Given the description of an element on the screen output the (x, y) to click on. 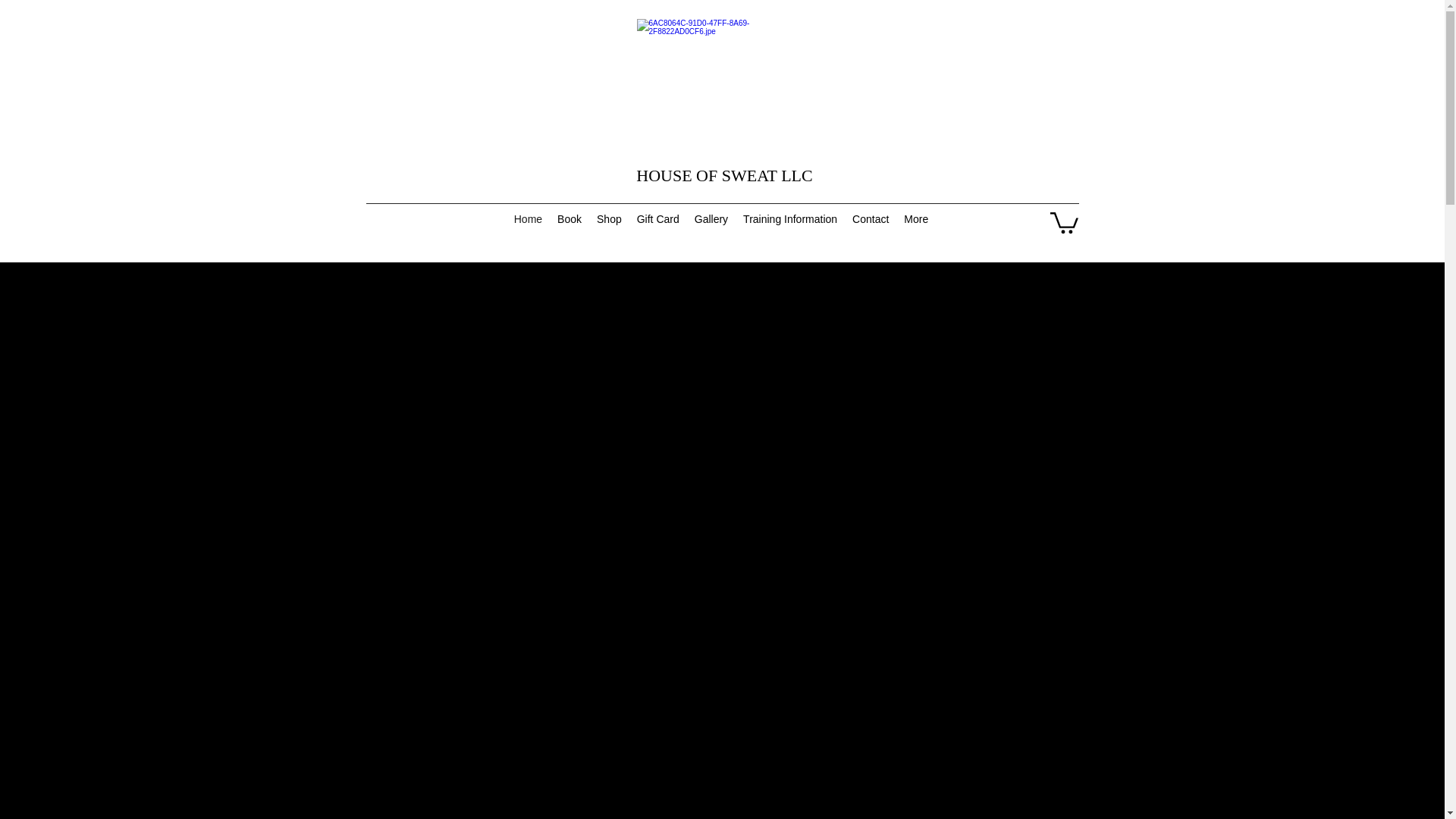
Gallery (711, 220)
Training Information (789, 220)
Book (569, 220)
Home (528, 220)
Shop (608, 220)
Contact (870, 220)
Gift Card (657, 220)
HOUSE OF SWEAT LLC (724, 175)
